Given the description of an element on the screen output the (x, y) to click on. 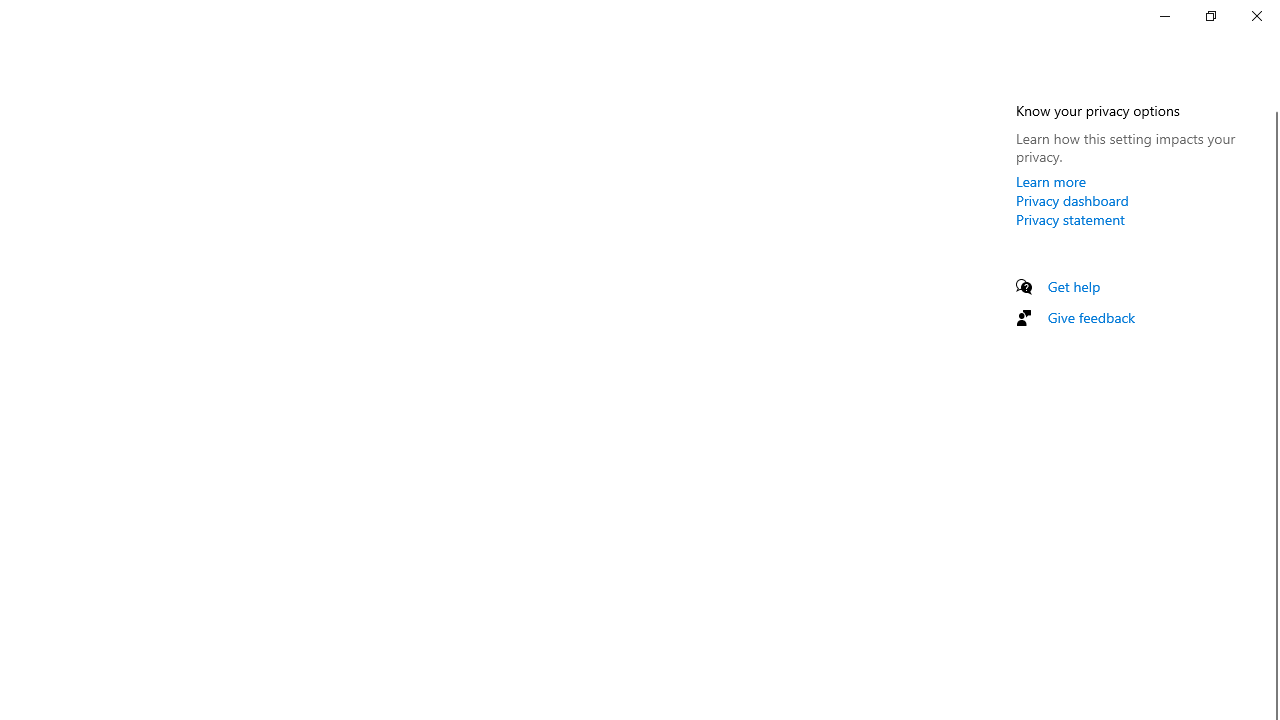
Get help (1074, 286)
Close Settings (1256, 15)
Give feedback (1091, 317)
Minimize Settings (1164, 15)
Privacy statement (1070, 219)
Privacy dashboard (1072, 200)
Learn more (1051, 181)
Restore Settings (1210, 15)
